Given the description of an element on the screen output the (x, y) to click on. 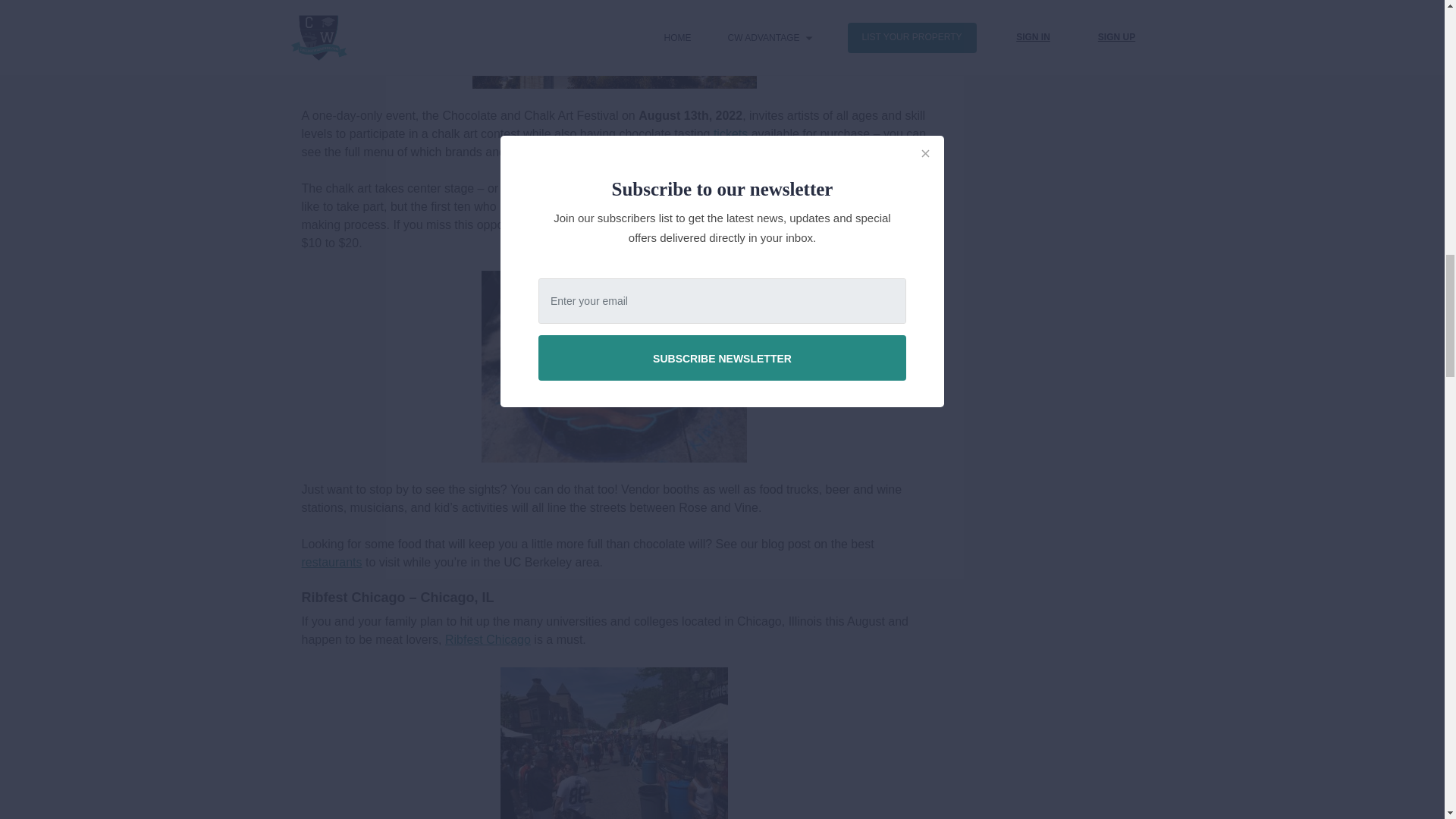
restaurants (331, 562)
tickets (730, 133)
Ribfest Chicago (488, 639)
Eventbrite (587, 205)
here (847, 151)
